Given the description of an element on the screen output the (x, y) to click on. 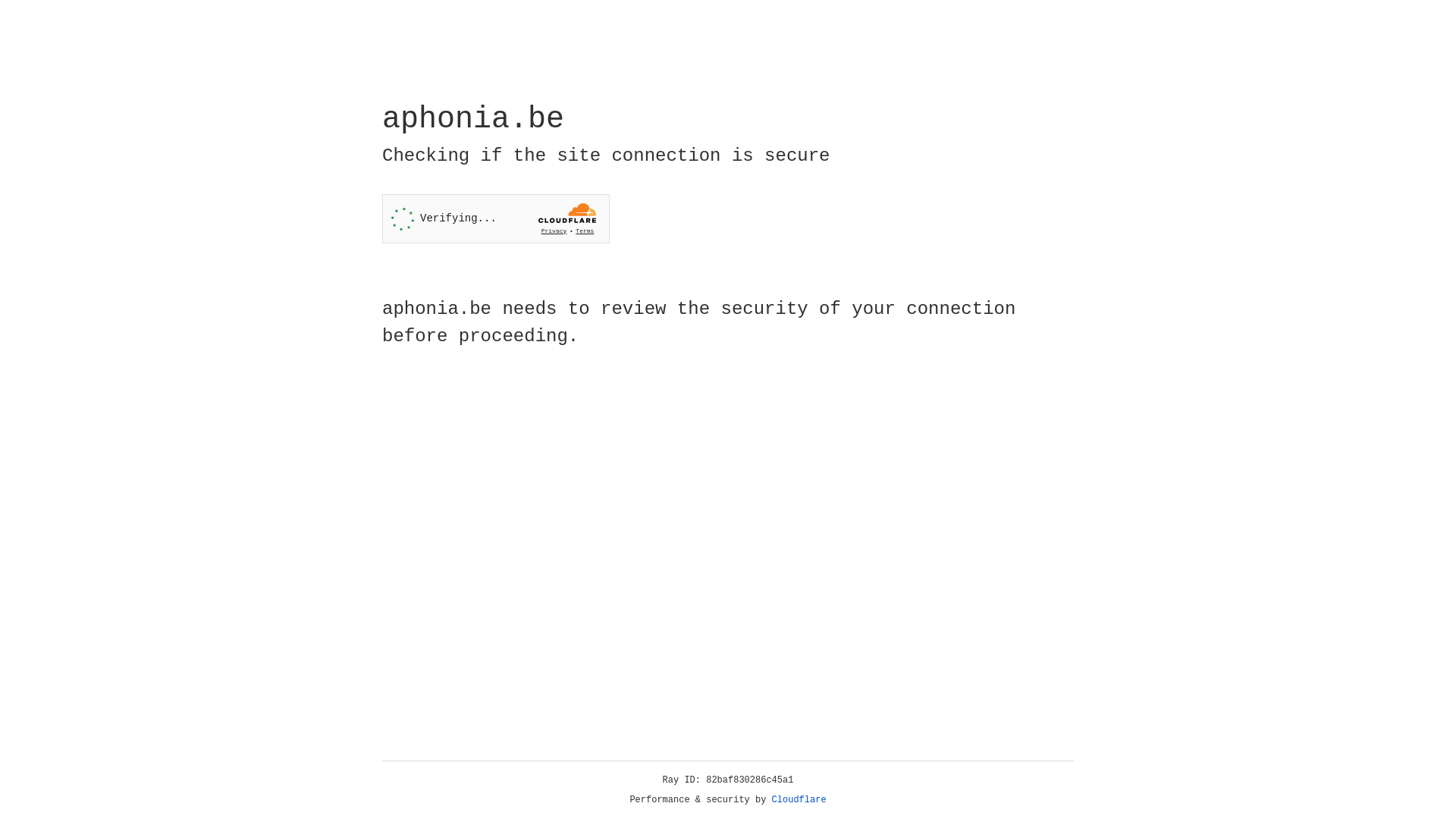
Cloudflare Element type: text (798, 799)
Widget containing a Cloudflare security challenge Element type: hover (495, 218)
